Given the description of an element on the screen output the (x, y) to click on. 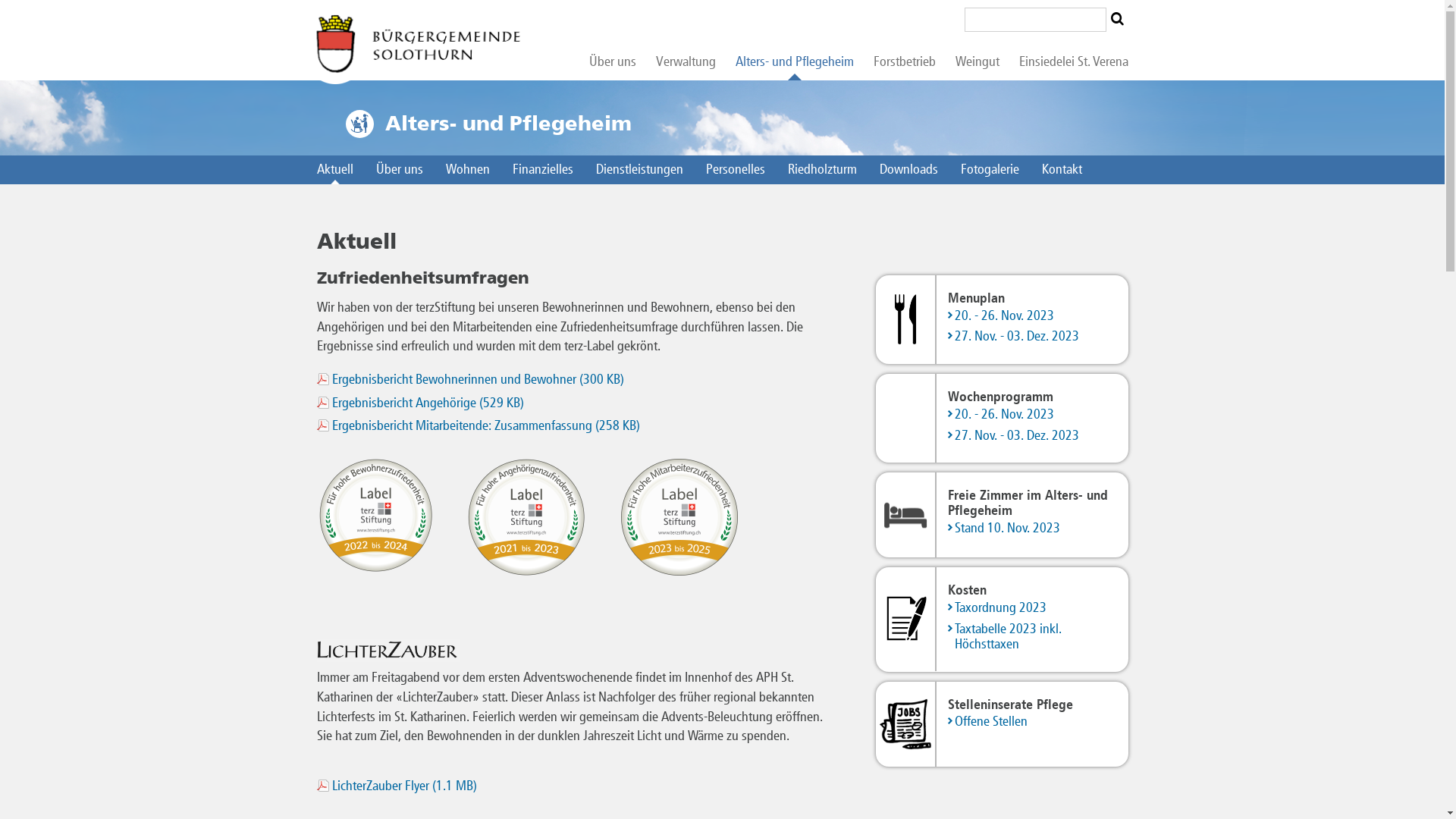
20. - 26. Nov. 2023 Element type: text (1032, 415)
Weingut Element type: text (976, 61)
Finanzielles Element type: text (541, 169)
Ergebnisbericht Mitarbeitende: Zusammenfassung (258 KB) Element type: text (478, 425)
27. Nov. - 03. Dez. 2023 Element type: text (1032, 436)
Riedholzturm Element type: text (822, 169)
Aktuell Element type: text (334, 169)
20. - 26. Nov. 2023 Element type: text (1032, 316)
Taxordnung 2023 Element type: text (1032, 608)
Wohnen Element type: text (466, 169)
Forstbetrieb Element type: text (903, 61)
Kontakt Element type: text (1060, 169)
Ergebnisbericht Bewohnerinnen und Bewohner (300 KB) Element type: text (470, 379)
Personelles Element type: text (735, 169)
Downloads Element type: text (907, 169)
Fotogalerie Element type: text (989, 169)
Dienstleistungen Element type: text (638, 169)
LichterZauber Flyer (1.1 MB) Element type: text (397, 785)
Stand 10. Nov. 2023 Element type: text (1032, 528)
Offene Stellen Element type: text (1032, 722)
Verwaltung Element type: text (685, 61)
27. Nov. - 03. Dez. 2023 Element type: text (1032, 337)
Alters- und Pflegeheim Element type: text (793, 61)
Einsiedelei St. Verena Element type: text (1067, 61)
